Given the description of an element on the screen output the (x, y) to click on. 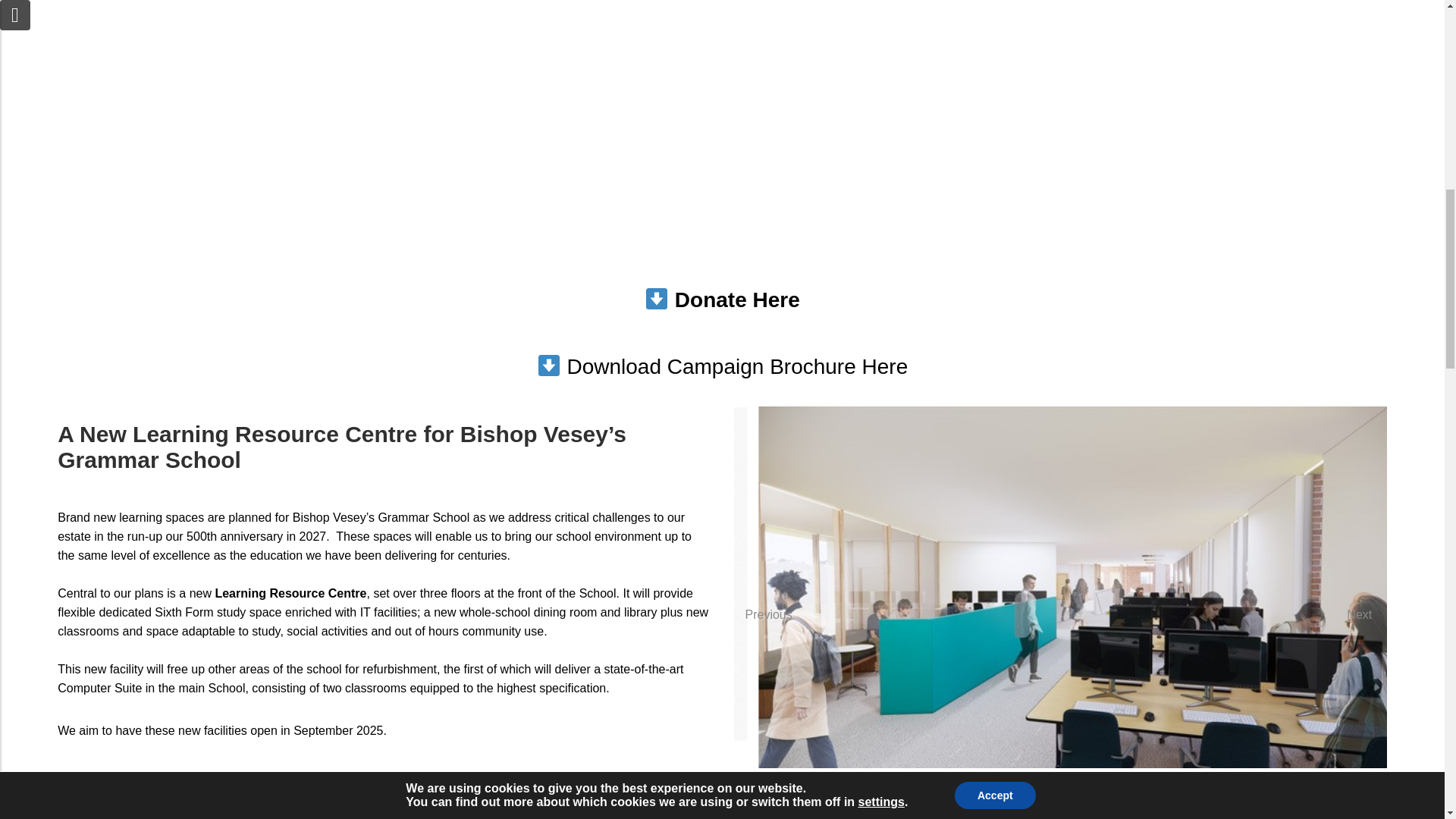
VideoPress Video Player (270, 137)
